Given the description of an element on the screen output the (x, y) to click on. 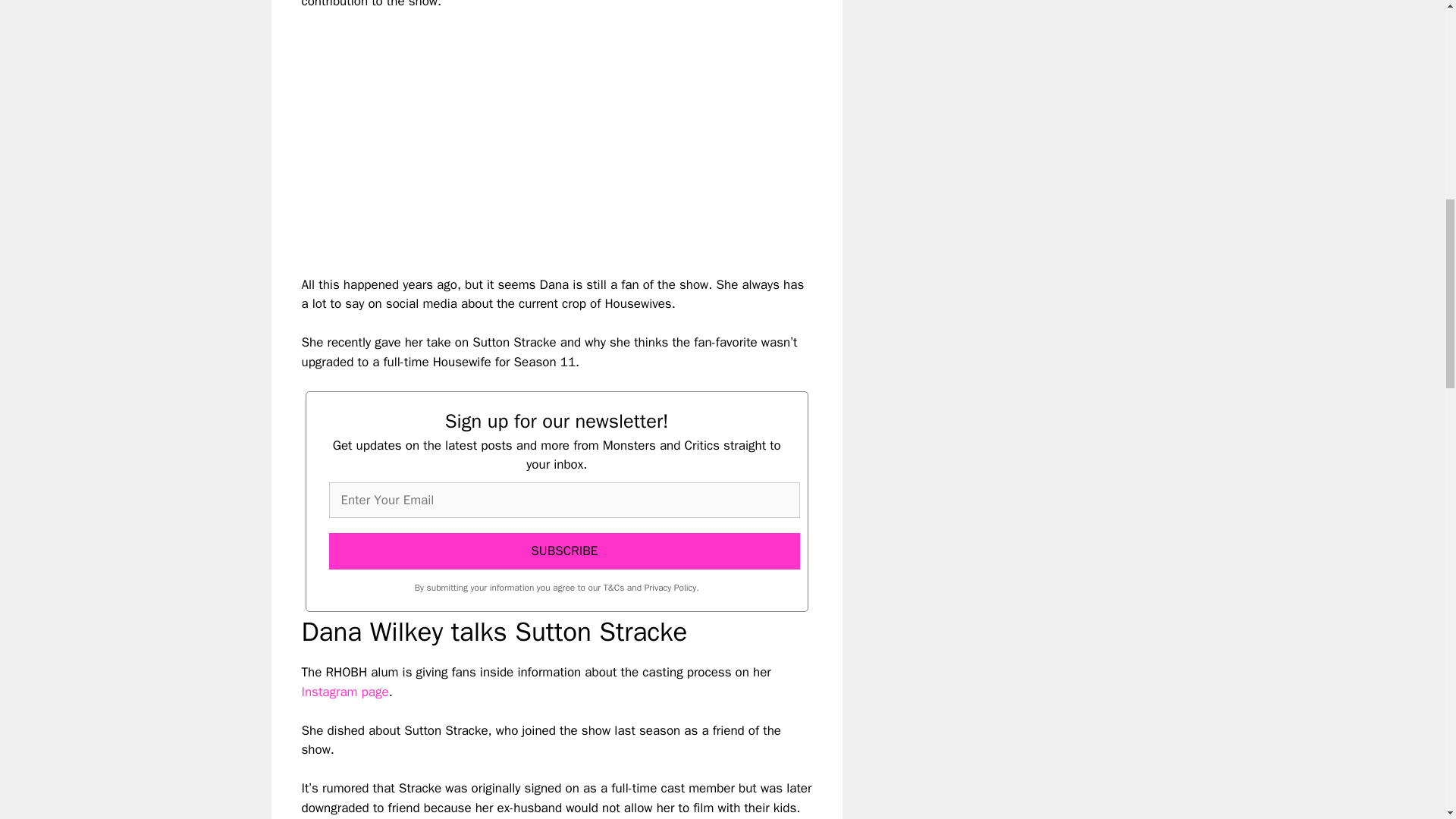
Instagram page (344, 691)
SUBSCRIBE (564, 551)
YouTube video player (513, 130)
SUBSCRIBE (564, 551)
